Given the description of an element on the screen output the (x, y) to click on. 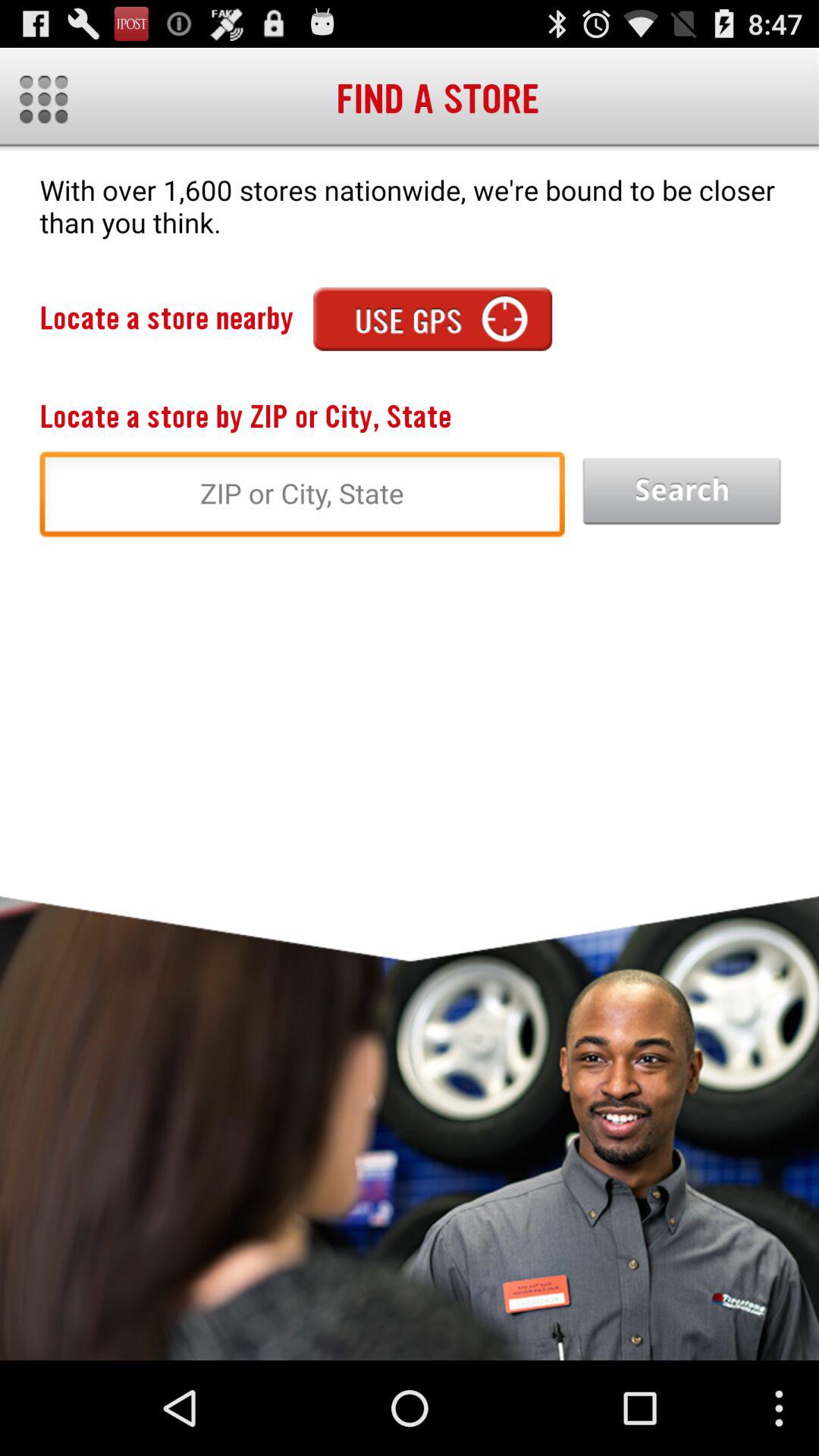
toggle a gps (432, 318)
